Given the description of an element on the screen output the (x, y) to click on. 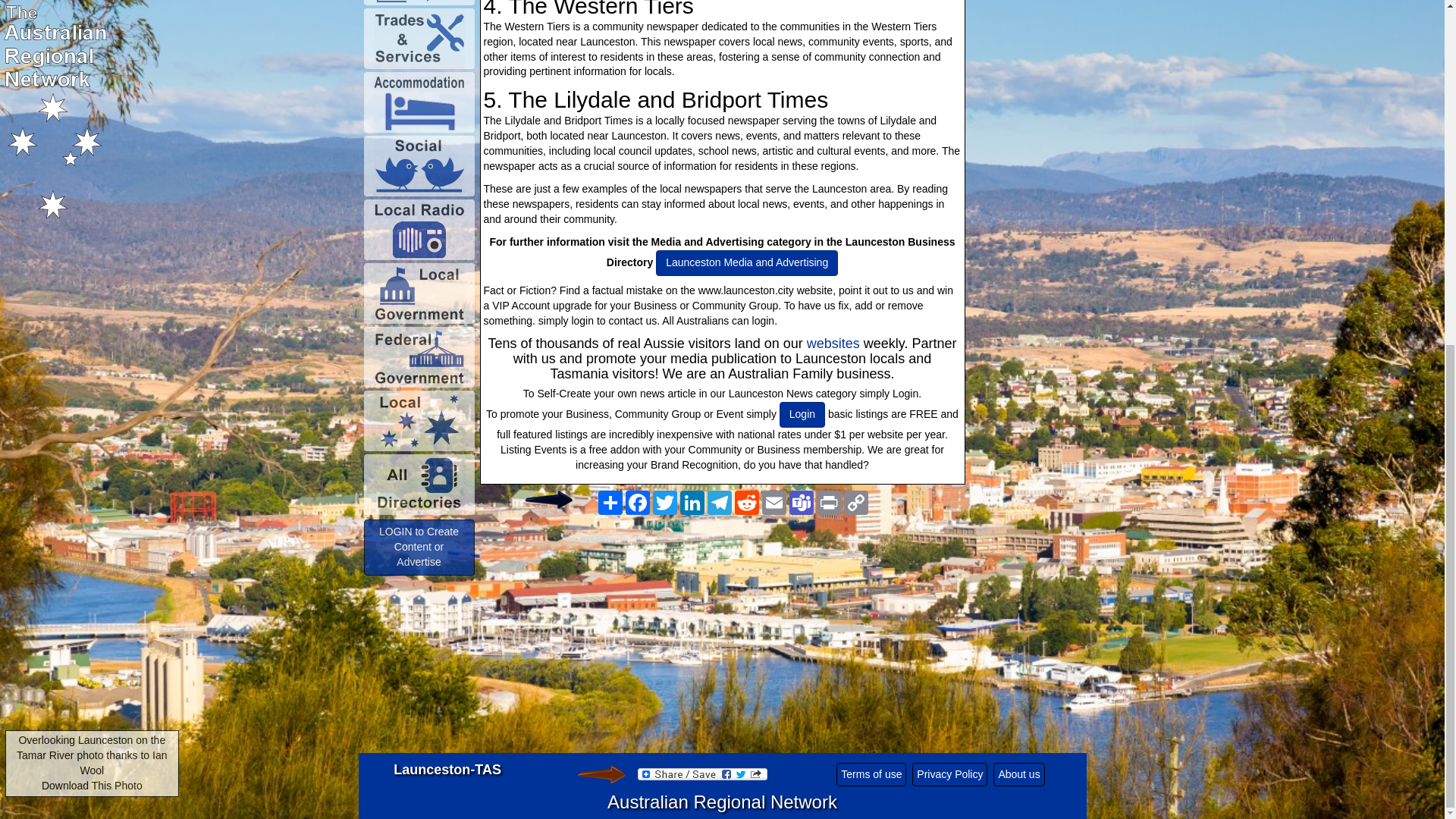
Please like our Page (548, 499)
Advertisement (721, 642)
Please like our Page (600, 773)
Websites (833, 343)
